Given the description of an element on the screen output the (x, y) to click on. 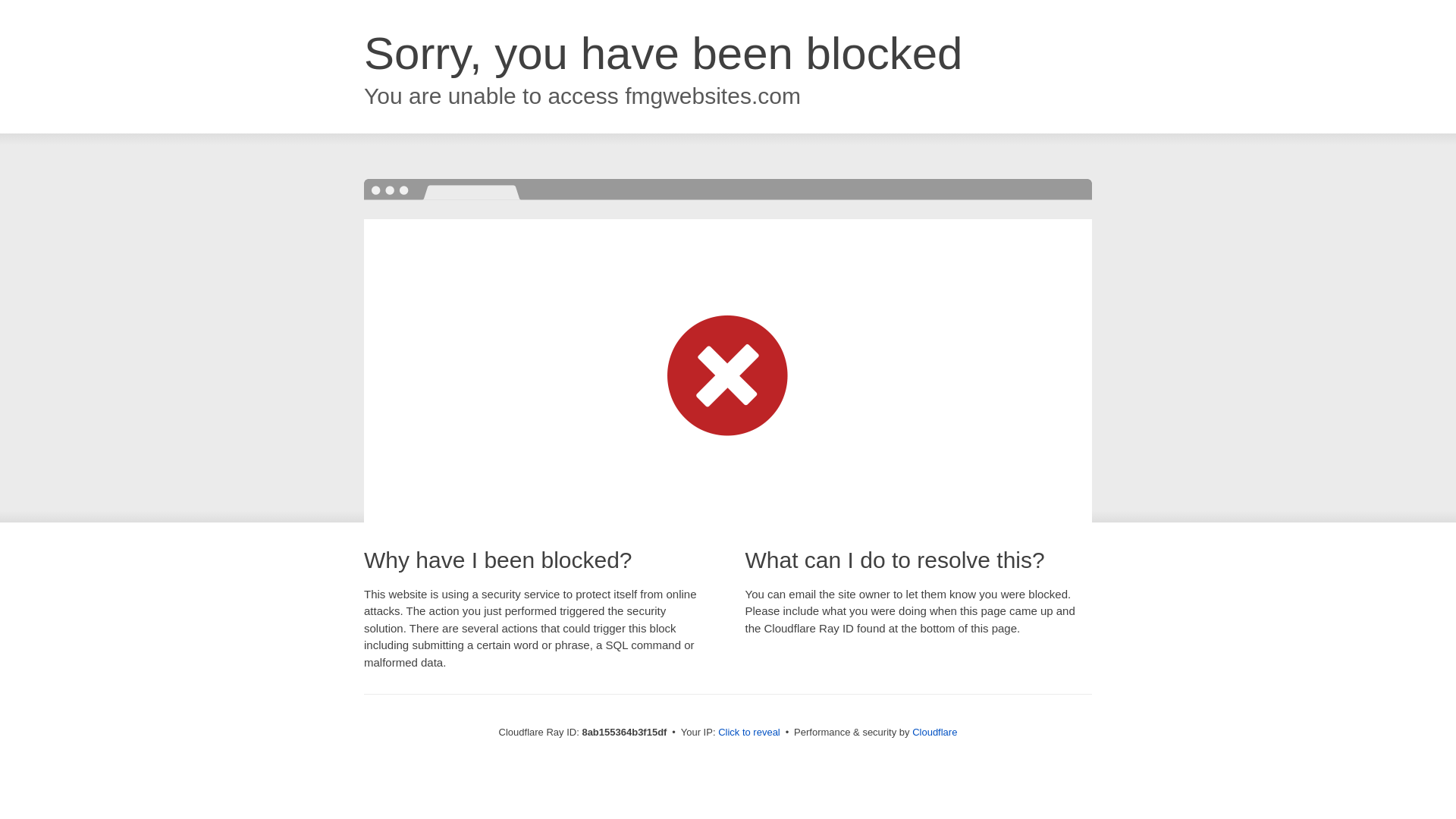
Click to reveal (748, 732)
Cloudflare (934, 731)
